Given the description of an element on the screen output the (x, y) to click on. 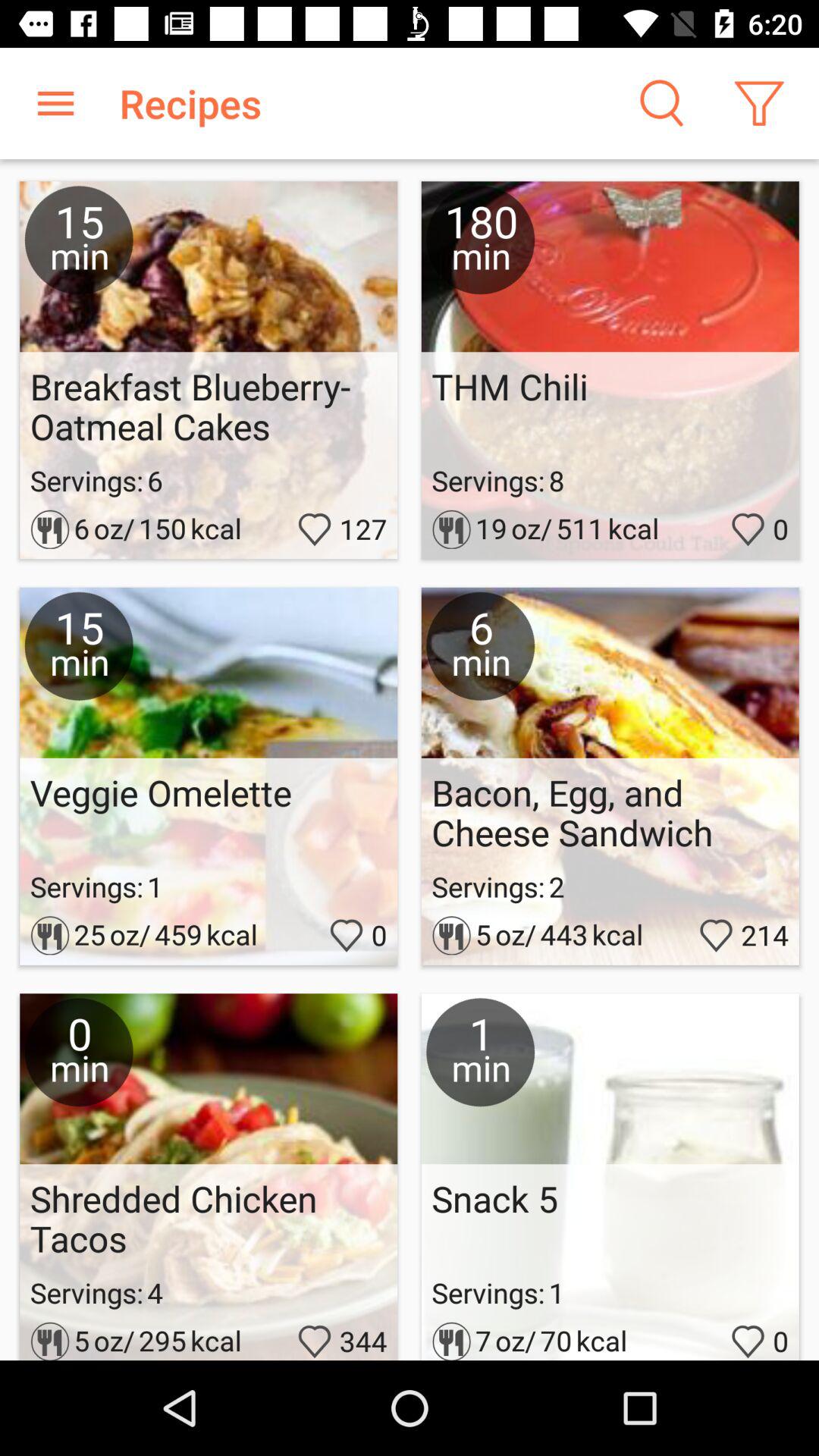
select the item next to the recipes app (55, 103)
